Given the description of an element on the screen output the (x, y) to click on. 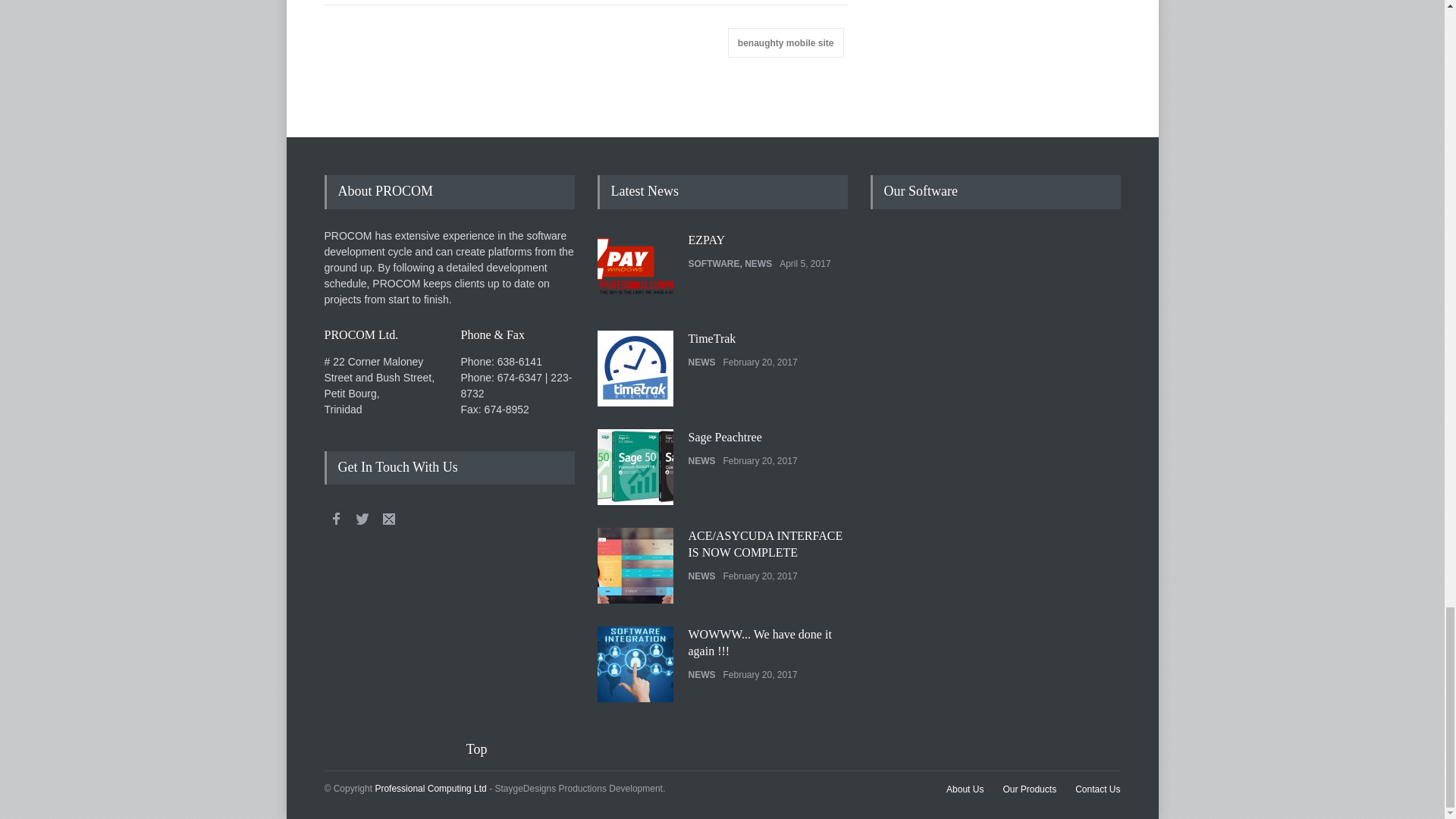
Top (485, 749)
